Given the description of an element on the screen output the (x, y) to click on. 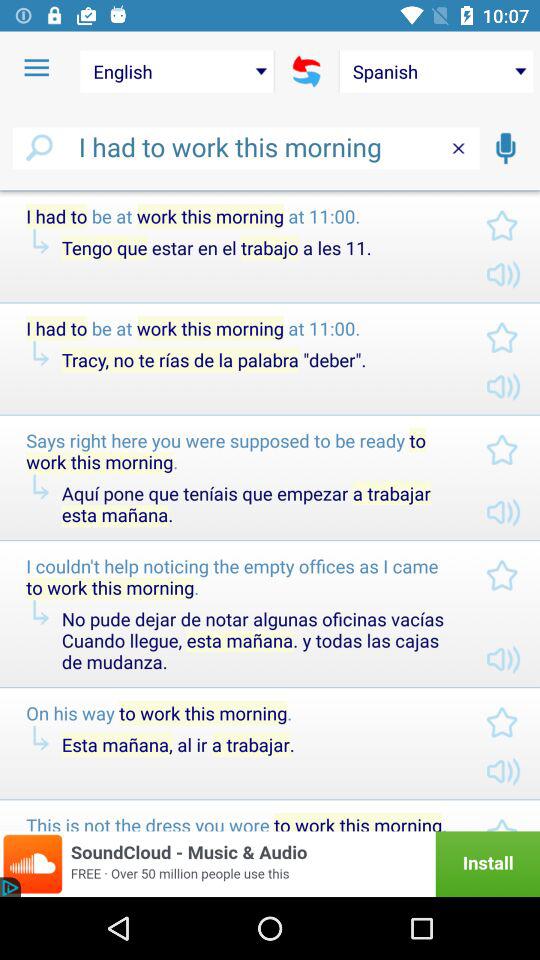
click to transfer symbol (306, 71)
